Given the description of an element on the screen output the (x, y) to click on. 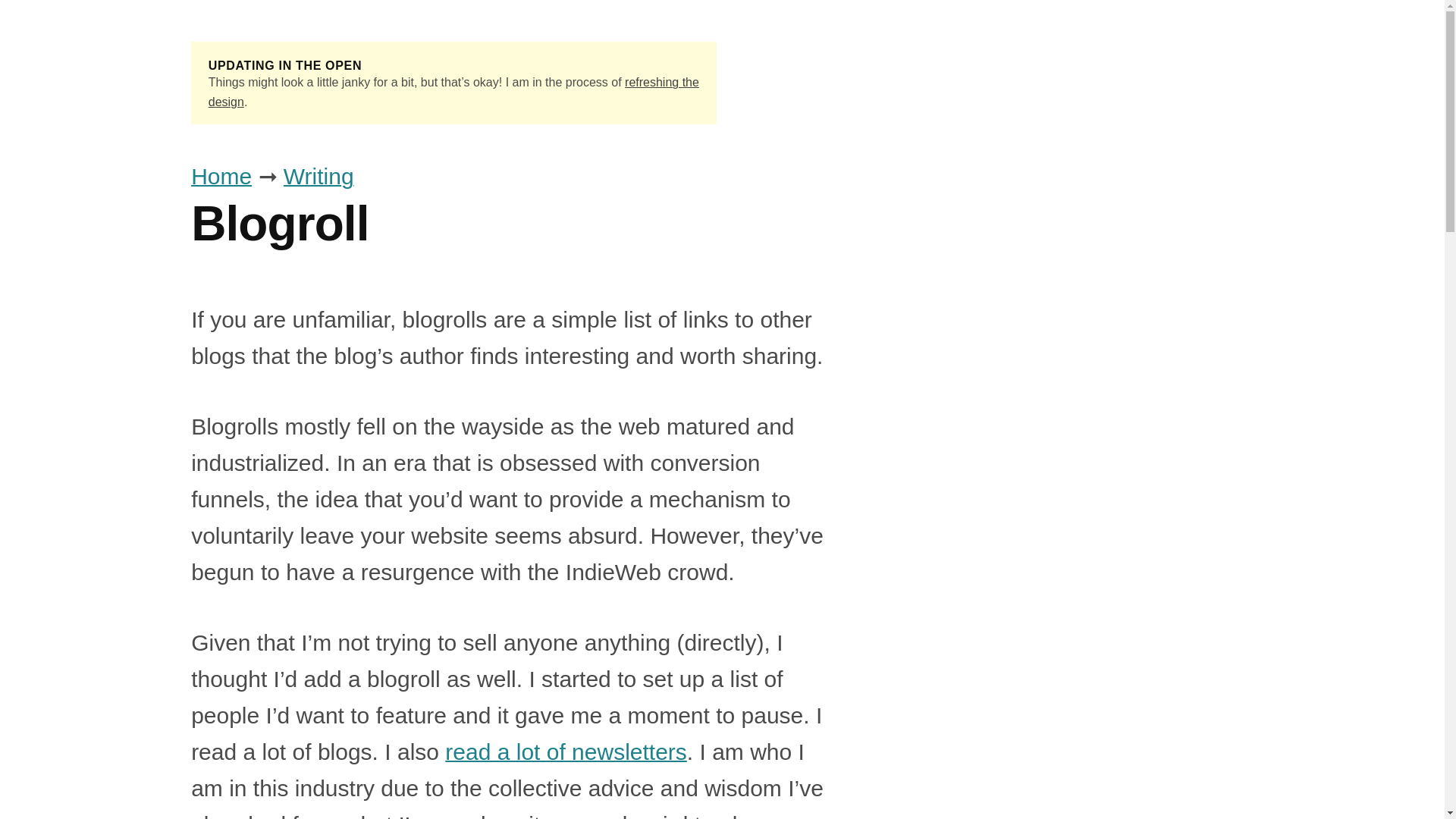
Home (220, 176)
read a lot of newsletters (566, 751)
refreshing the design (453, 92)
Writing (318, 176)
